Given the description of an element on the screen output the (x, y) to click on. 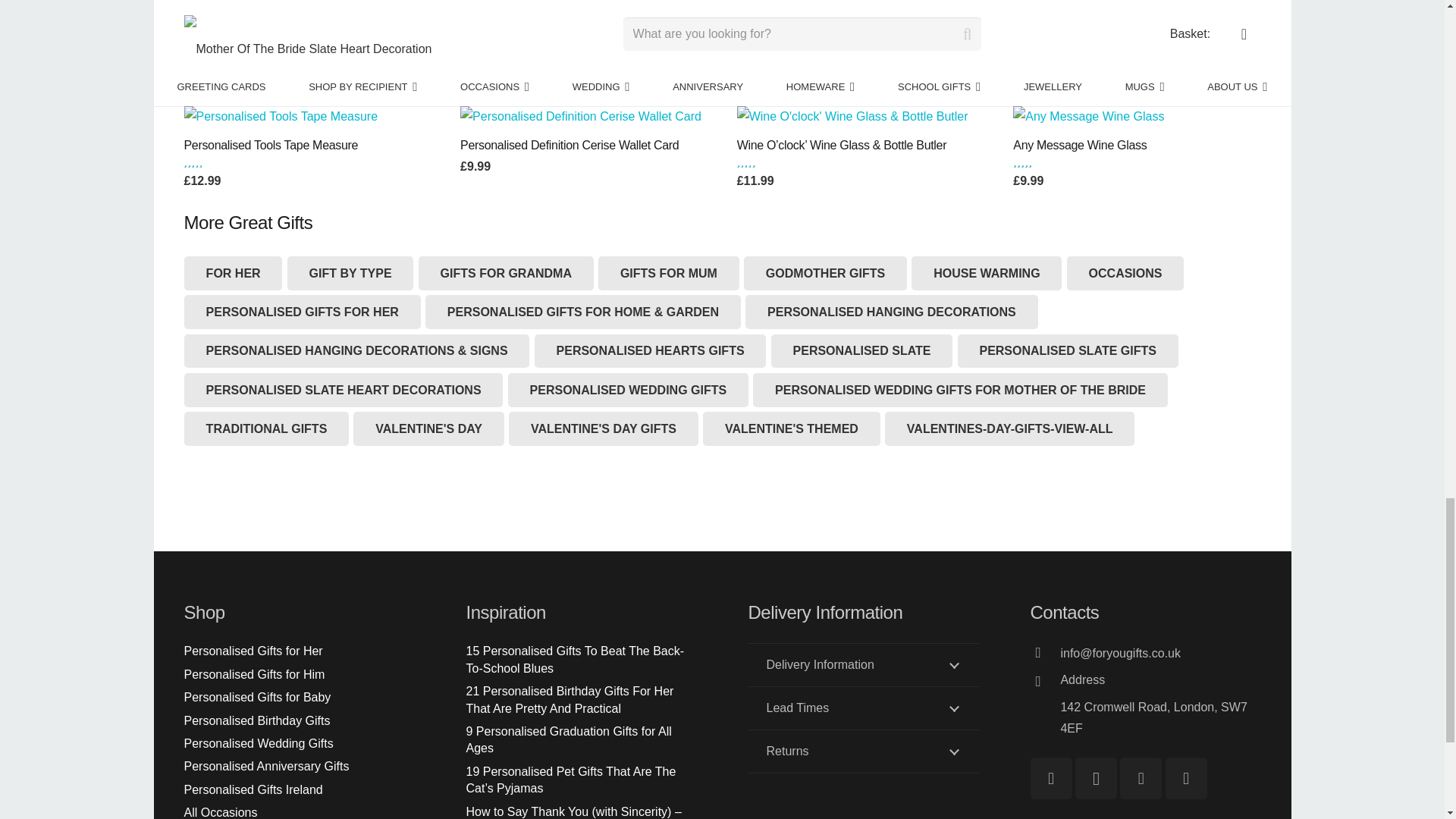
Any Message Wine Glass (1088, 116)
Facebook (1050, 778)
Personalised Definition Cerise Wallet Card (580, 116)
Contact Us (1159, 682)
Personalised Tools Tape Measure (280, 116)
Classic Triple Tea Light Box (863, 707)
Free Text Wooden Sofa Tray (540, 6)
Twitter (266, 6)
Personalised Definition Black Wallet Card (1140, 778)
Instagram (854, 6)
Contact Us (1095, 778)
Measures Tumbler (1044, 681)
